Given the description of an element on the screen output the (x, y) to click on. 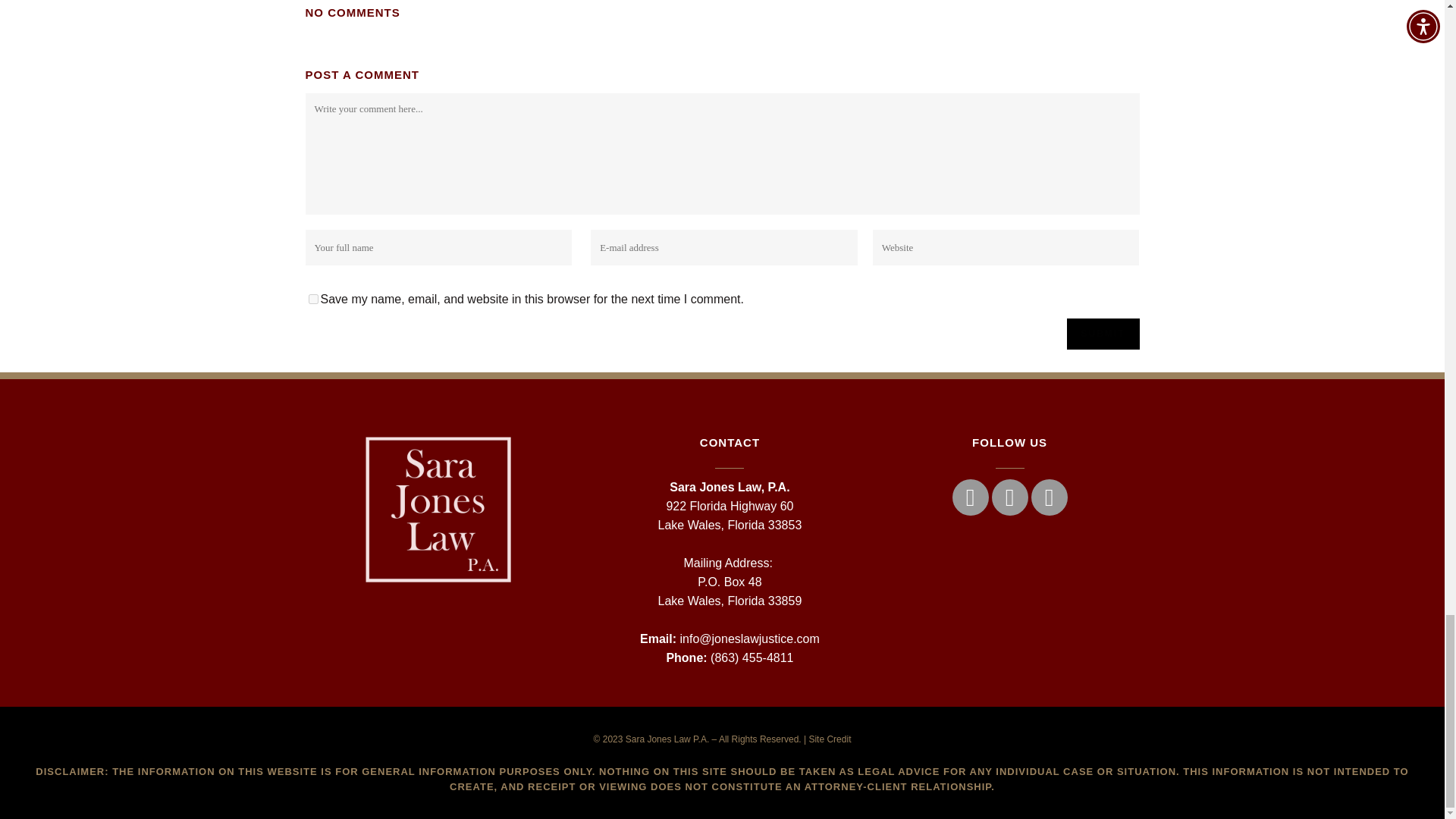
Twitter (1009, 497)
Facebook (970, 497)
Submit (1101, 333)
Site Credit (829, 738)
yes (312, 298)
LinkedIn (1048, 497)
Submit (1101, 333)
